Given the description of an element on the screen output the (x, y) to click on. 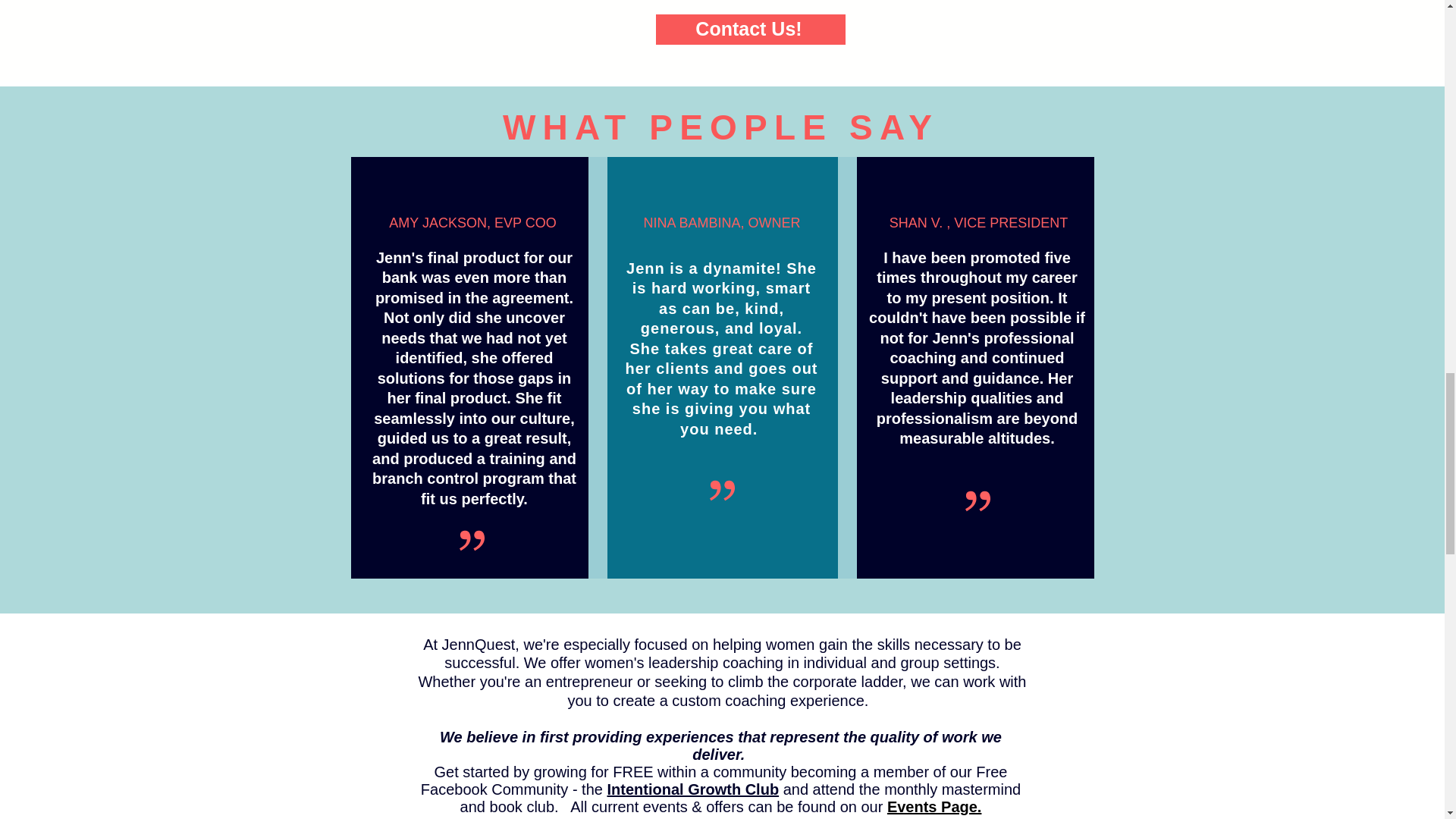
Events Page. (933, 806)
Intentional Growth Club (692, 789)
Contact Us! (749, 28)
